Given the description of an element on the screen output the (x, y) to click on. 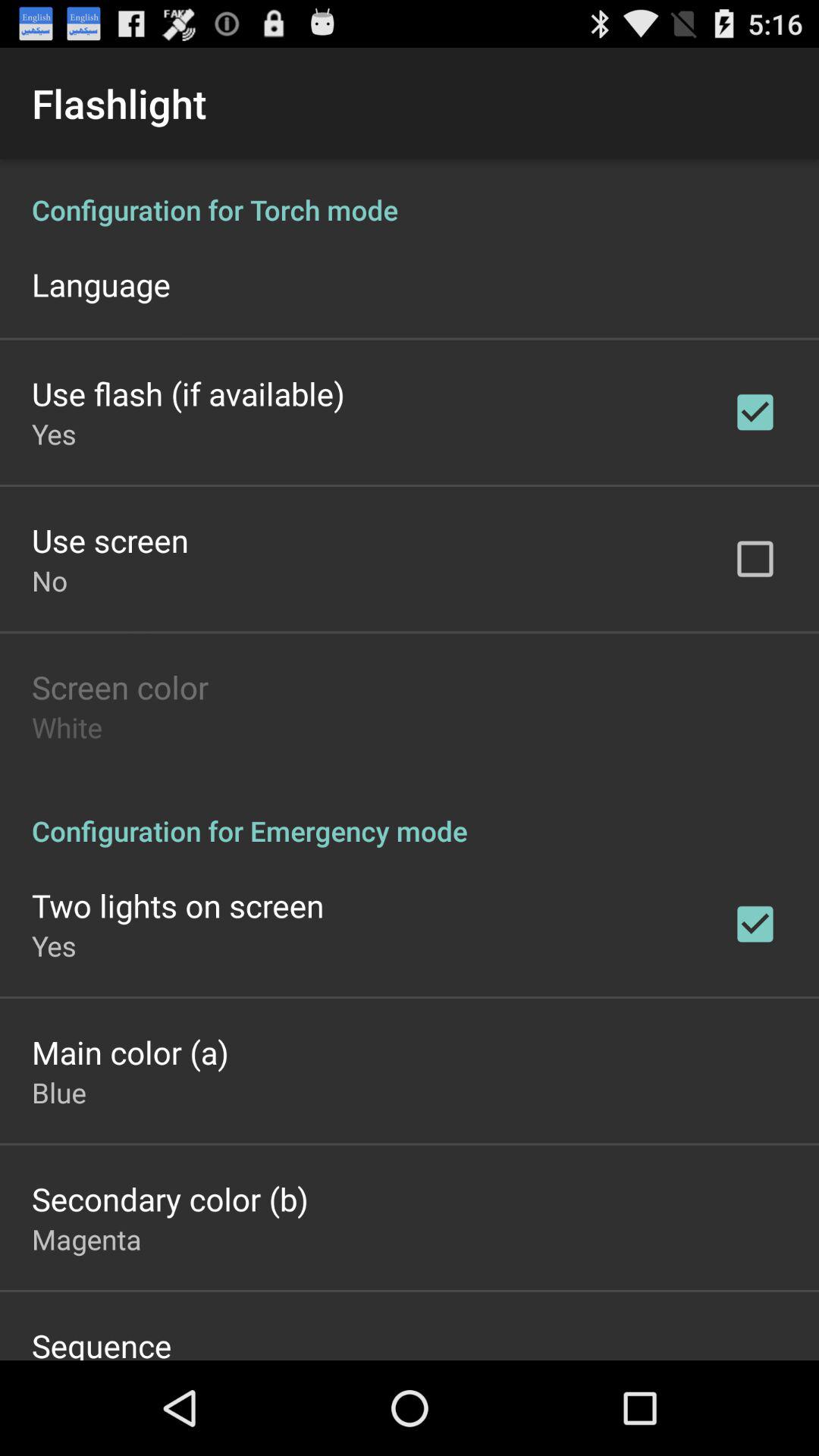
turn off item above white (119, 686)
